Given the description of an element on the screen output the (x, y) to click on. 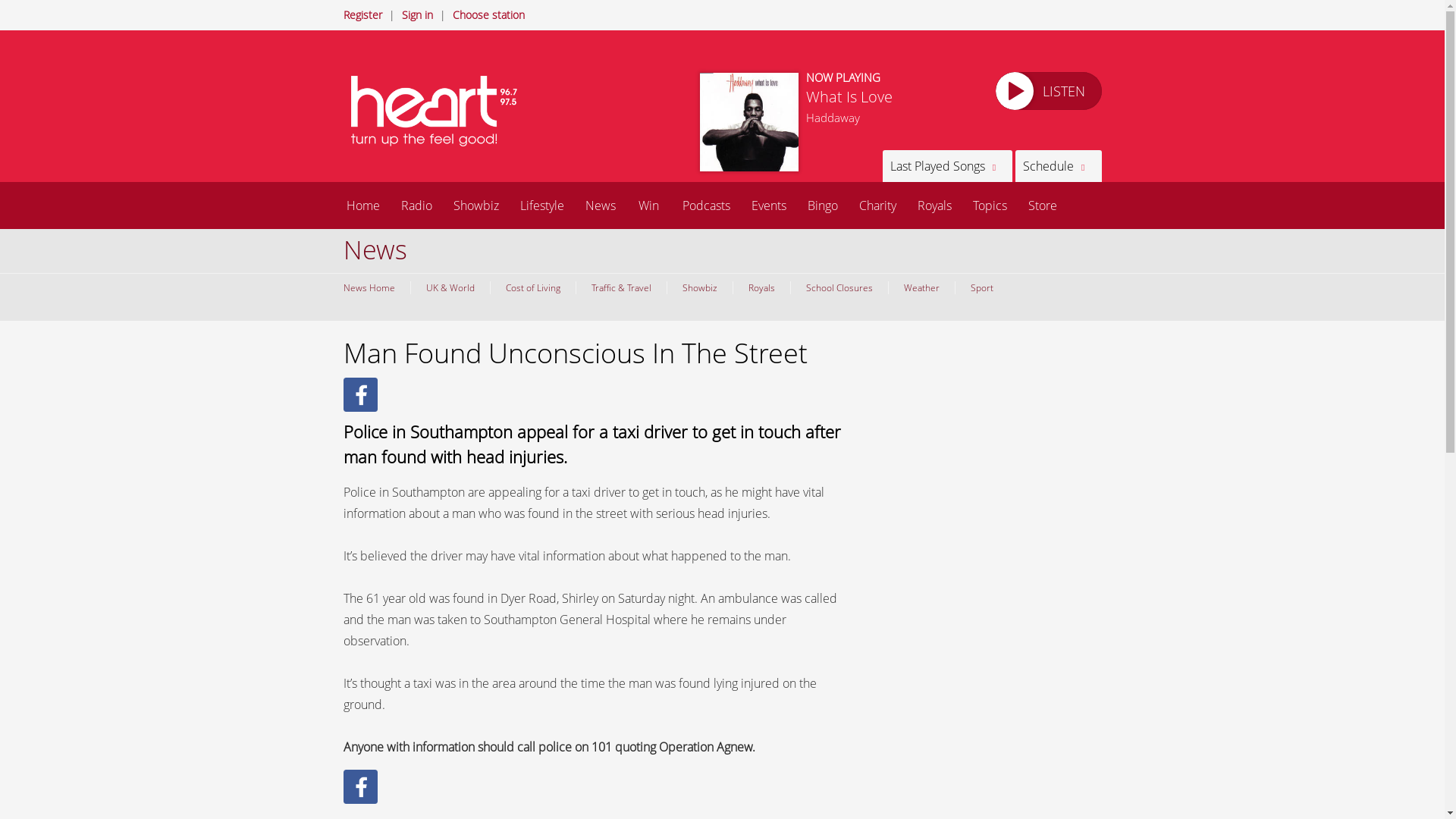
News (600, 205)
Home (362, 205)
Register (361, 14)
Weather (919, 287)
Podcasts (706, 205)
Last Played Songs (946, 165)
School Closures (839, 287)
News Home (371, 287)
Showbiz (475, 205)
Cost of Living (532, 287)
